Given the description of an element on the screen output the (x, y) to click on. 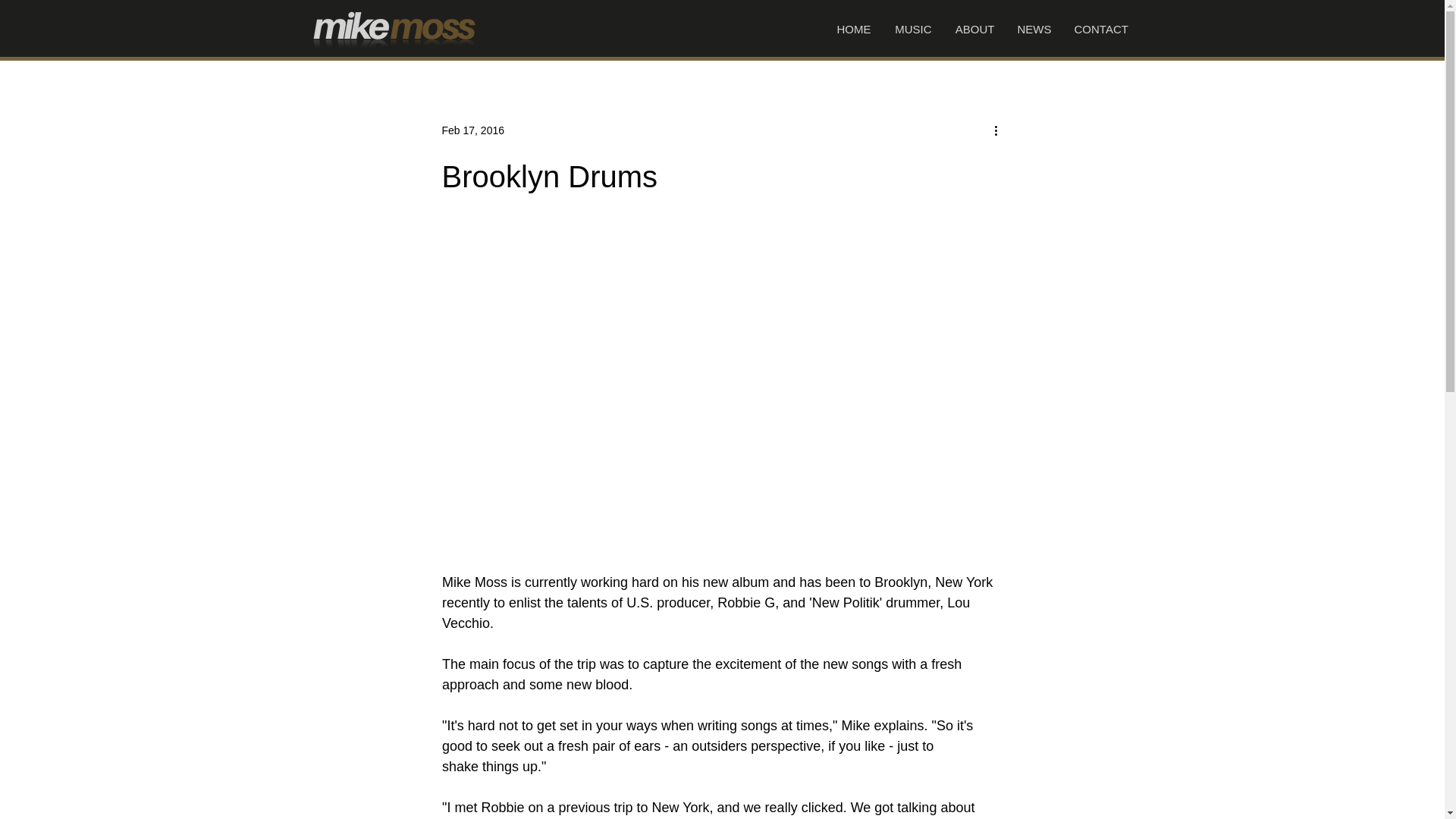
MUSIC (912, 29)
CONTACT (1101, 29)
NEWS (1034, 29)
HOME (853, 29)
ABOUT (974, 29)
Feb 17, 2016 (472, 130)
